Given the description of an element on the screen output the (x, y) to click on. 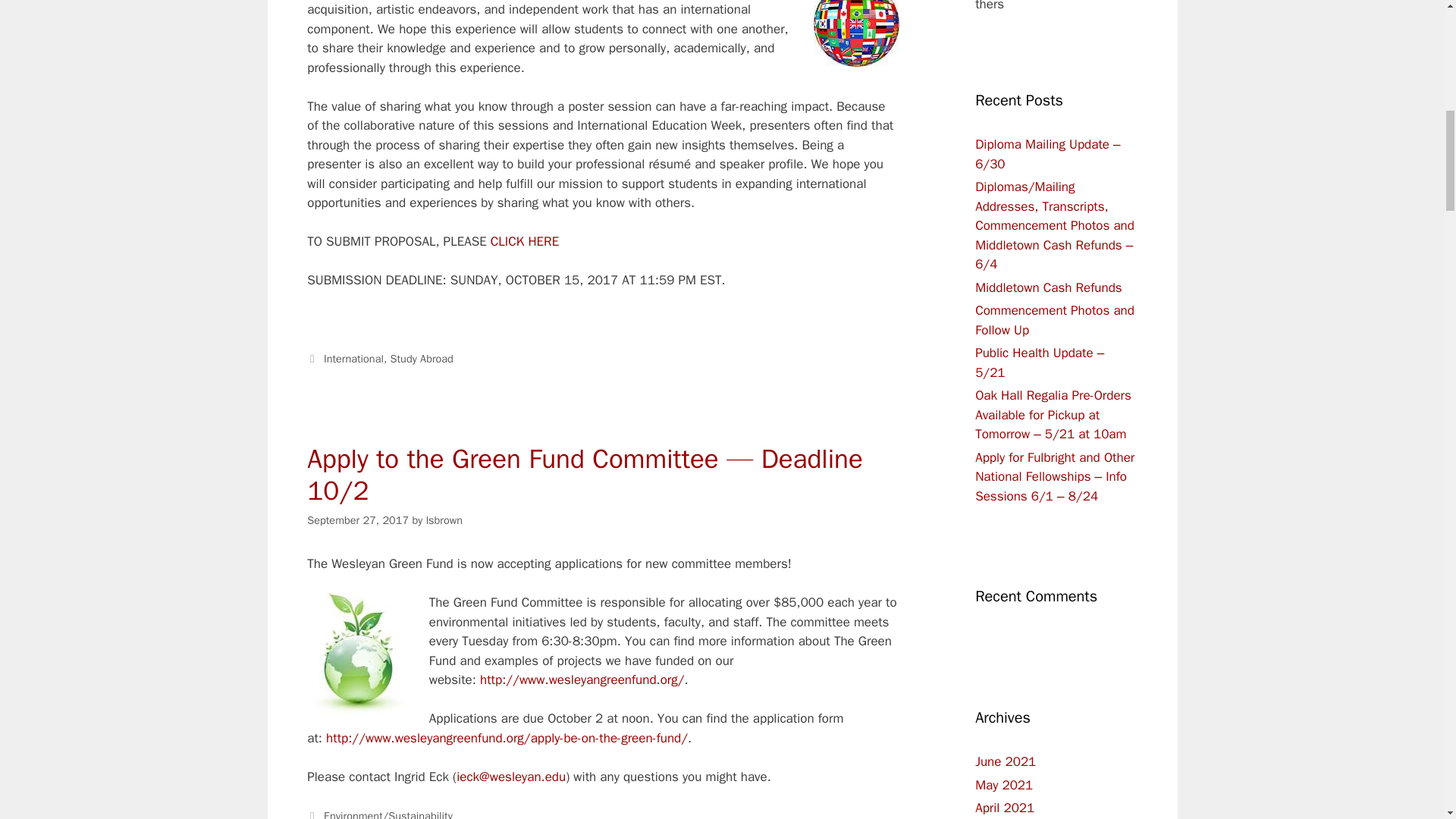
View all posts by lsbrown (444, 520)
lsbrown (444, 520)
Study Abroad (421, 358)
International (353, 358)
CLICK HERE (524, 241)
